Given the description of an element on the screen output the (x, y) to click on. 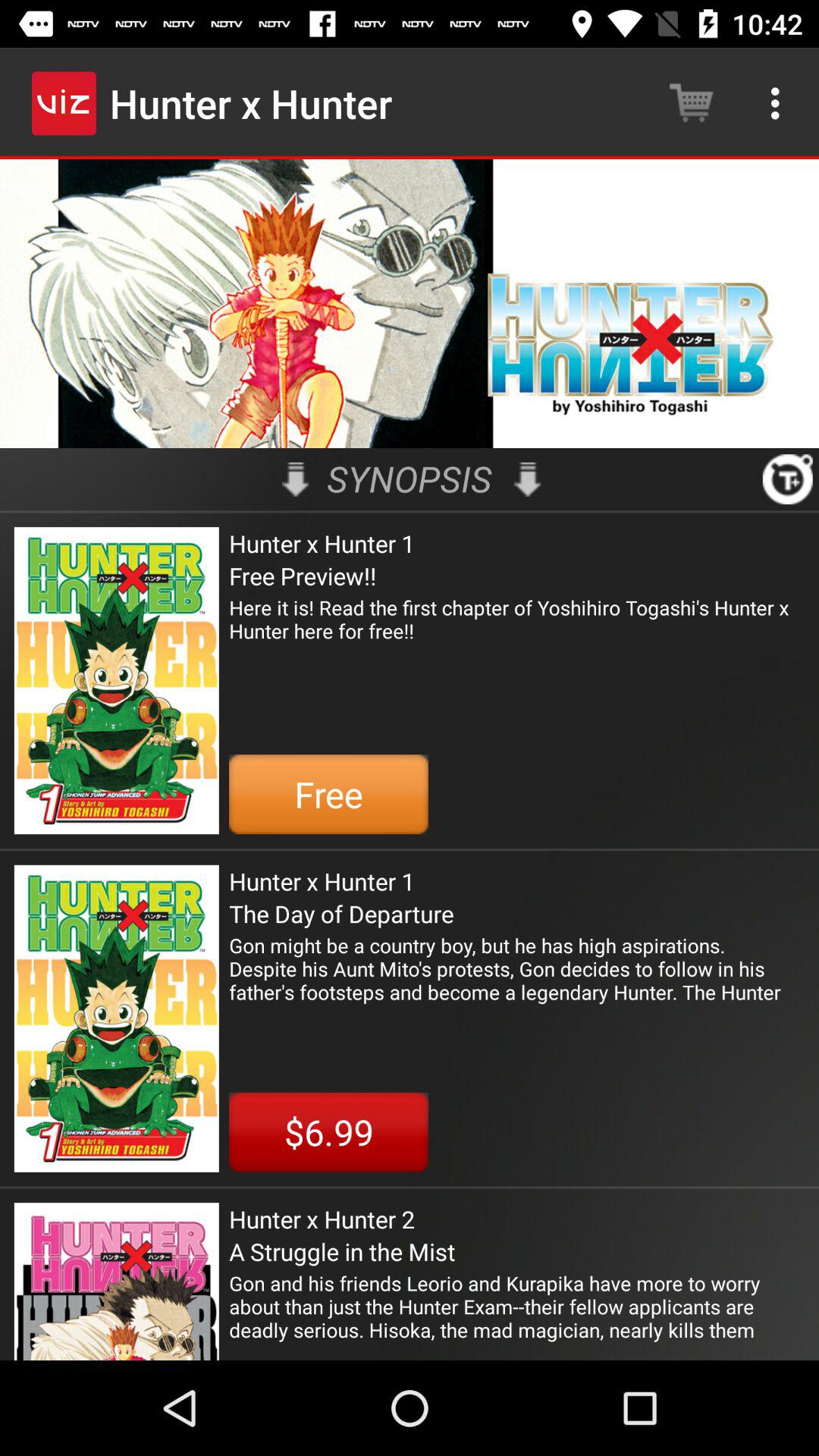
turn on the icon above hunter x hunter icon (527, 479)
